Given the description of an element on the screen output the (x, y) to click on. 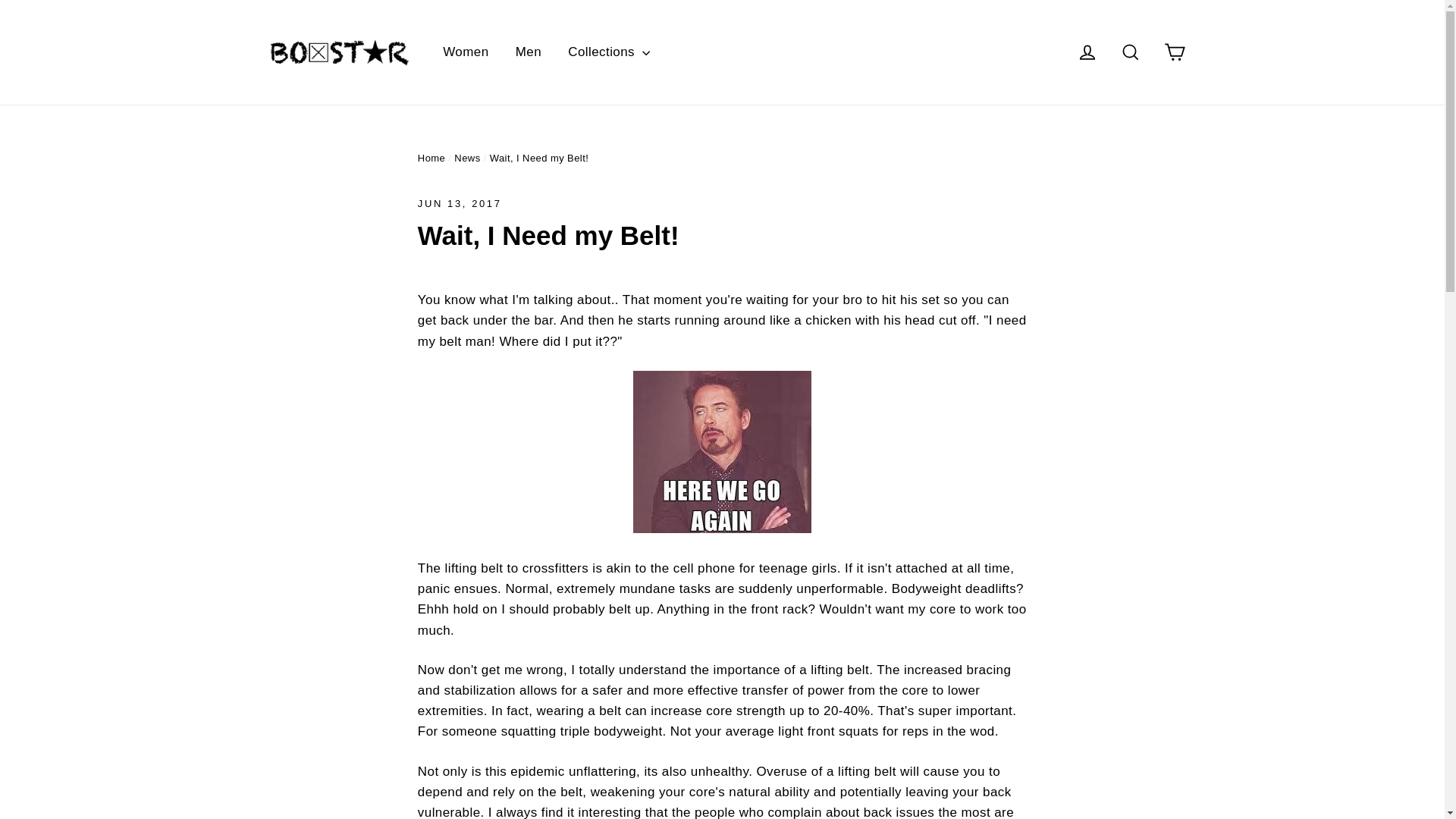
News (467, 157)
Back to the frontpage (431, 157)
Men (528, 51)
Search (1130, 52)
Home (431, 157)
Log in (1086, 52)
Collections (608, 51)
Cart (1173, 51)
Women (464, 51)
